Given the description of an element on the screen output the (x, y) to click on. 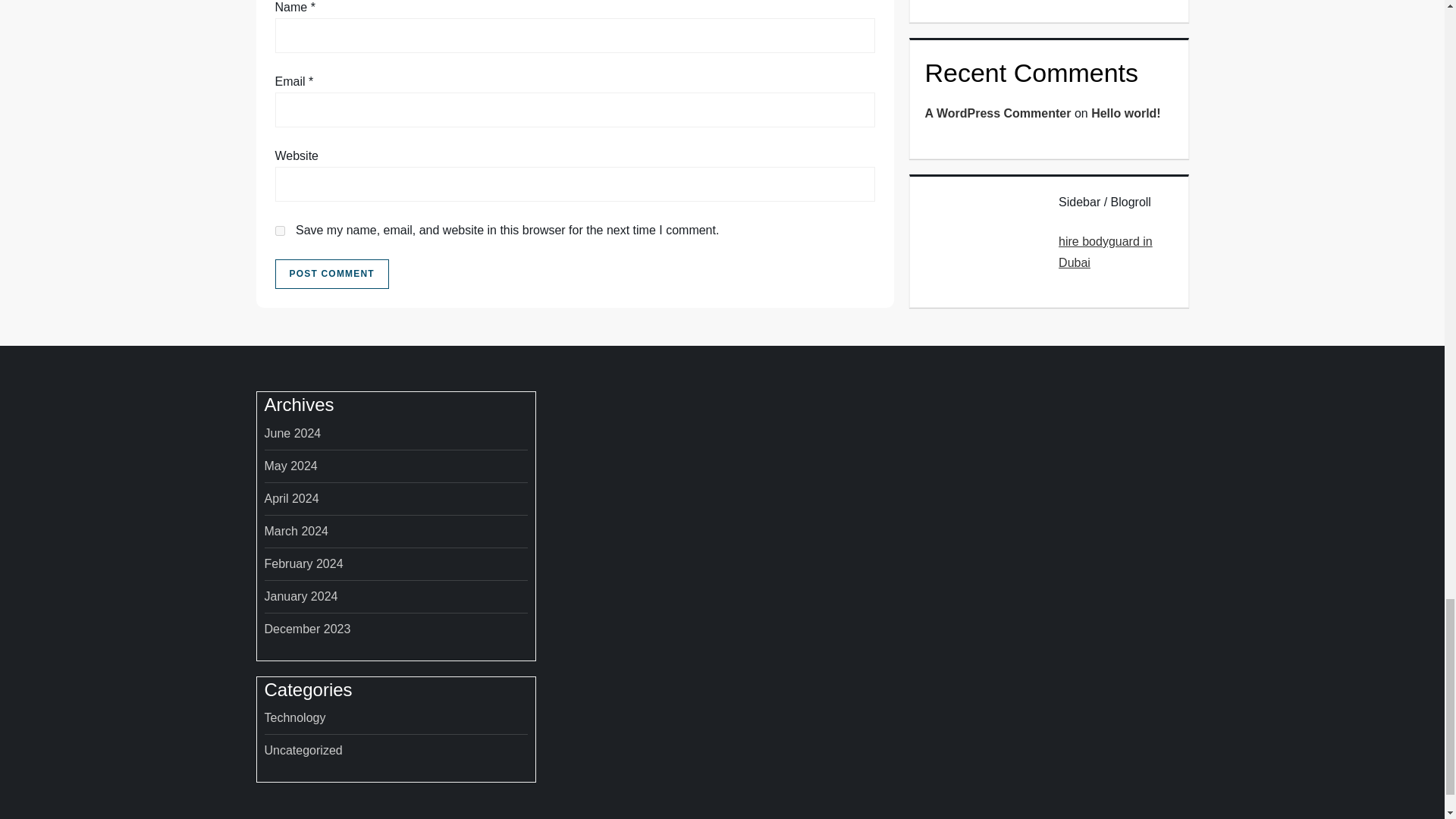
June 2024 (291, 433)
February 2024 (302, 563)
April 2024 (290, 498)
Technology (293, 717)
yes (279, 230)
Post Comment (331, 274)
May 2024 (290, 465)
Uncategorized (302, 750)
March 2024 (296, 531)
January 2024 (300, 596)
December 2023 (306, 629)
Post Comment (331, 274)
